Given the description of an element on the screen output the (x, y) to click on. 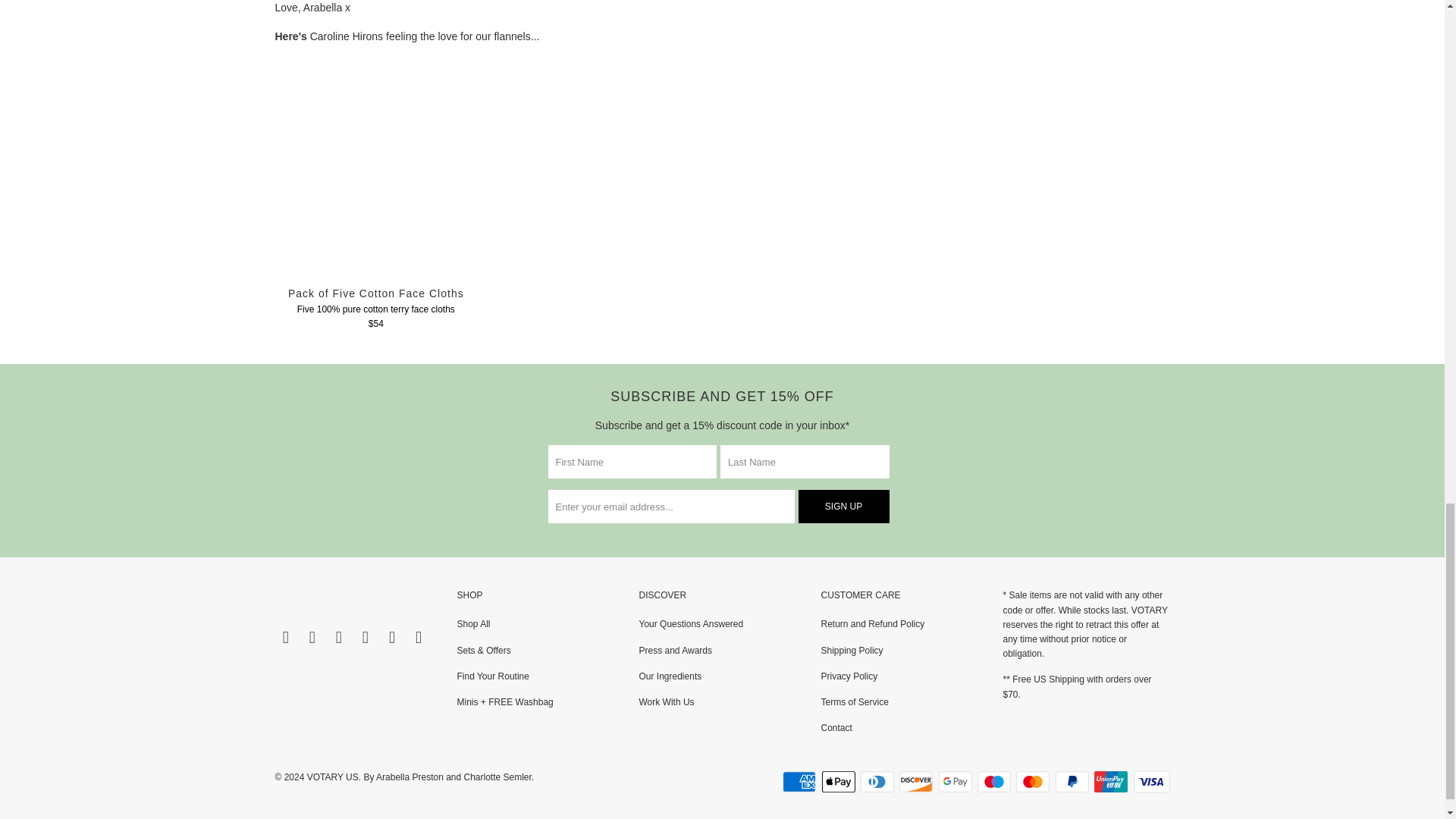
Sign Up (842, 506)
Visa (1150, 781)
American Express (800, 781)
Maestro (994, 781)
Apple Pay (840, 781)
Google Pay (957, 781)
Union Pay (1112, 781)
PayPal (1073, 781)
Mastercard (1034, 781)
Diners Club (878, 781)
Discover (917, 781)
